Given the description of an element on the screen output the (x, y) to click on. 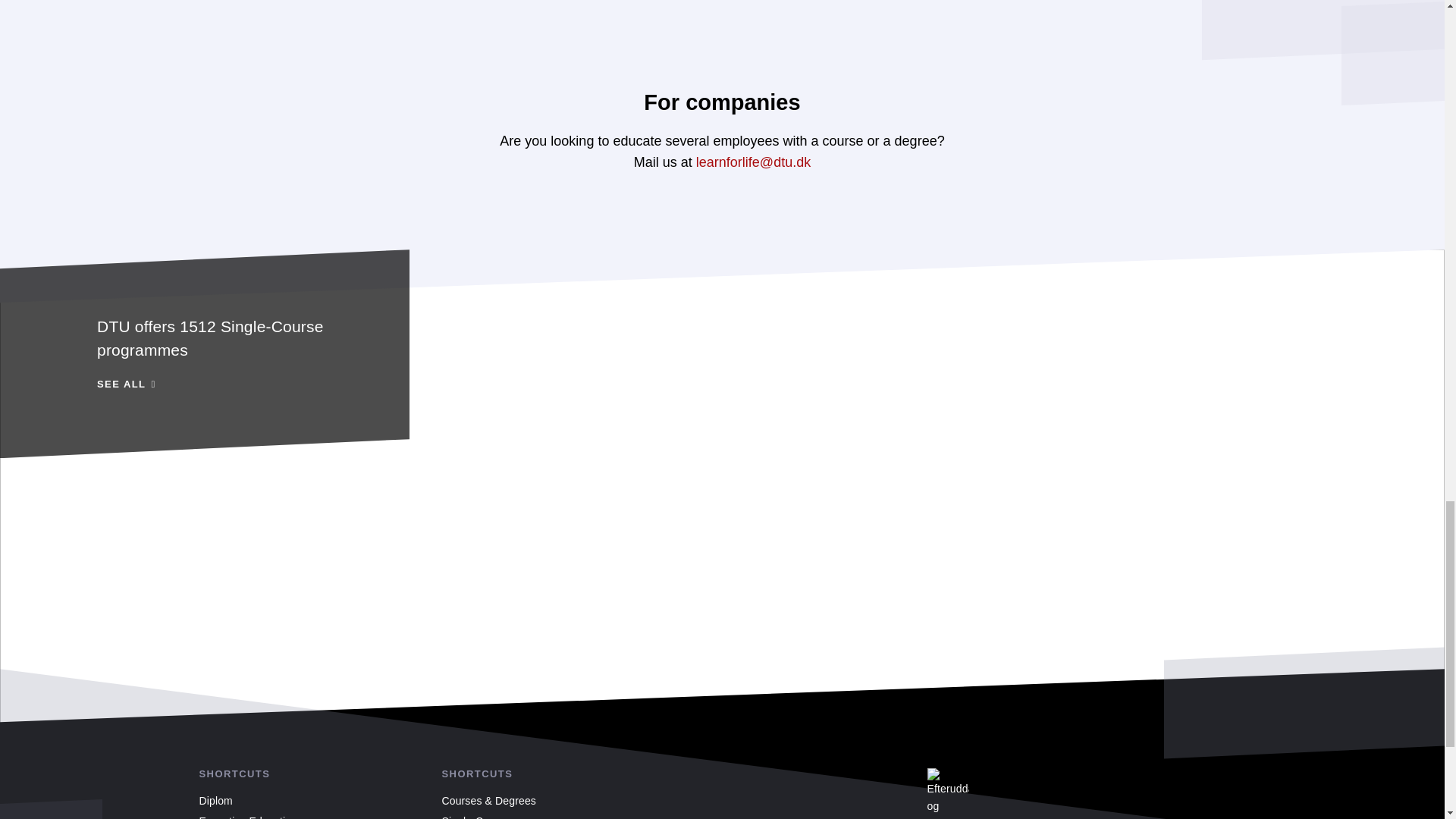
Single-Course (476, 816)
Diplom (214, 800)
Executive Education (204, 353)
